Given the description of an element on the screen output the (x, y) to click on. 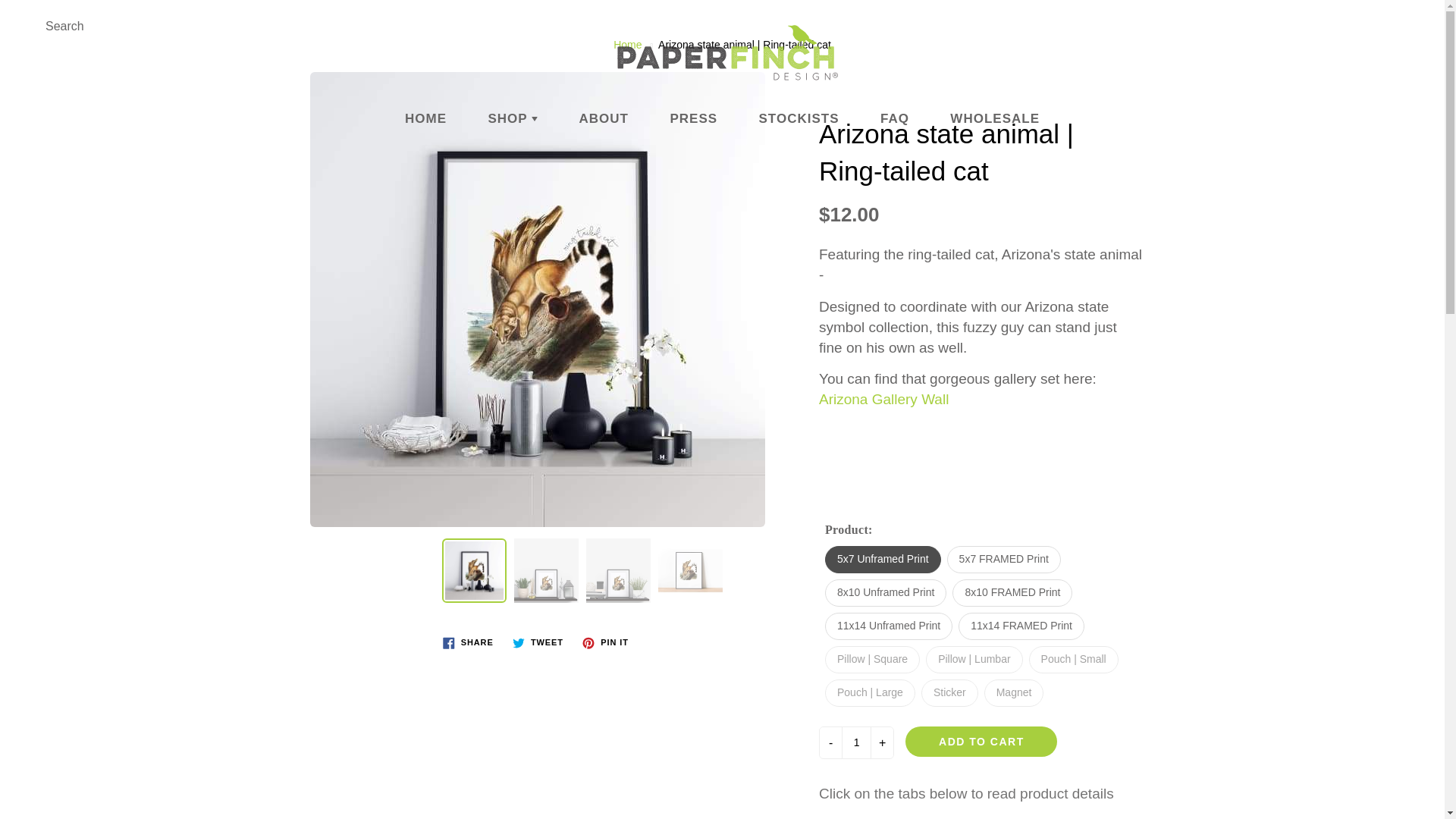
Pin on Pinterest (604, 642)
Tweet on Twitter (537, 642)
1 (855, 742)
SHOP (512, 118)
Share on Facebook (467, 642)
Search (28, 26)
HOME (425, 118)
My account (1379, 26)
You have 0 items in your cart (1417, 26)
Arizona gallery wall (883, 399)
